Given the description of an element on the screen output the (x, y) to click on. 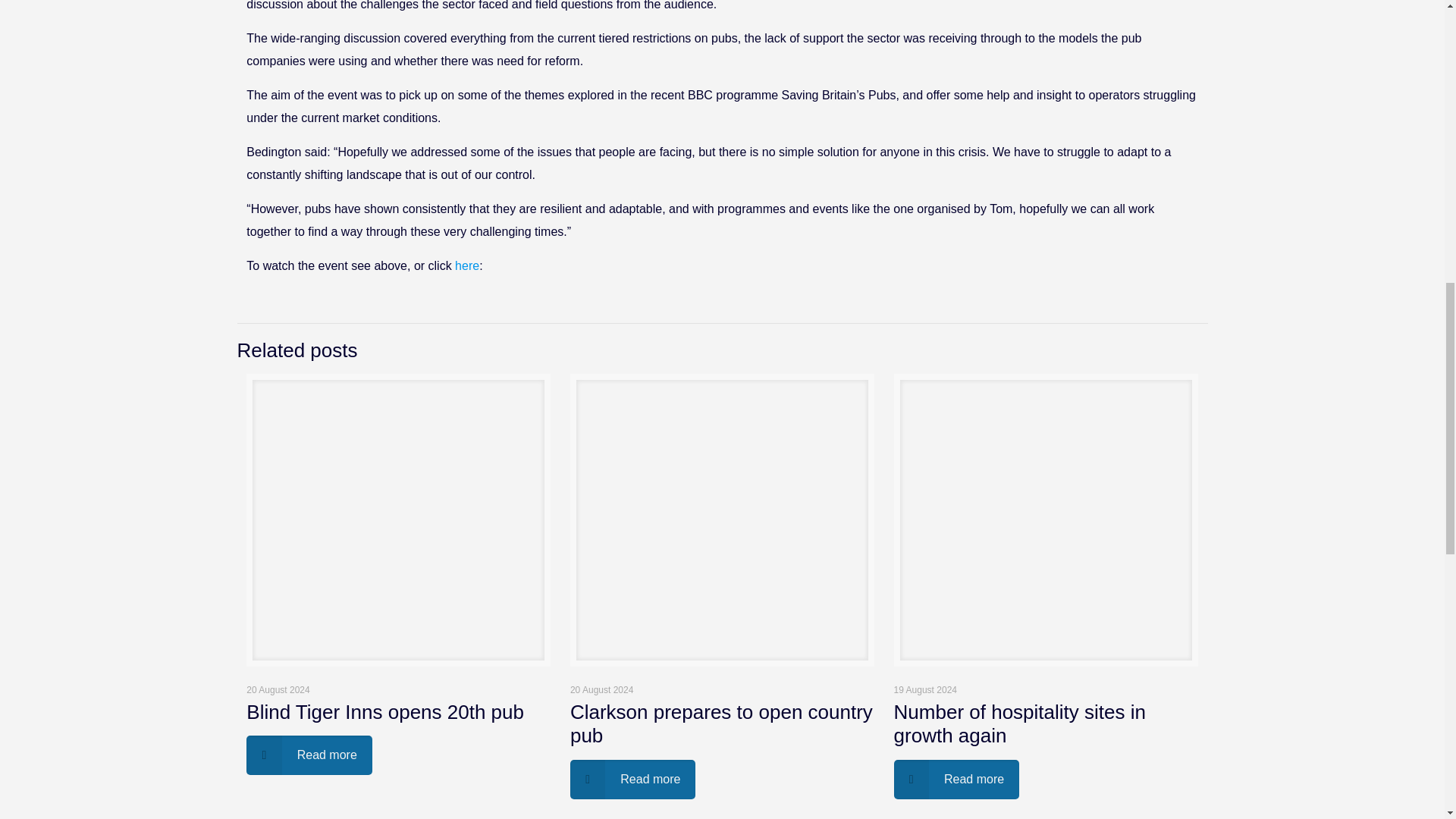
Number of hospitality sites in growth again (1019, 723)
Read more (956, 779)
Blind Tiger Inns opens 20th pub (385, 712)
Read more (309, 754)
here (466, 265)
Clarkson prepares to open country pub (721, 723)
Read more (632, 779)
